Given the description of an element on the screen output the (x, y) to click on. 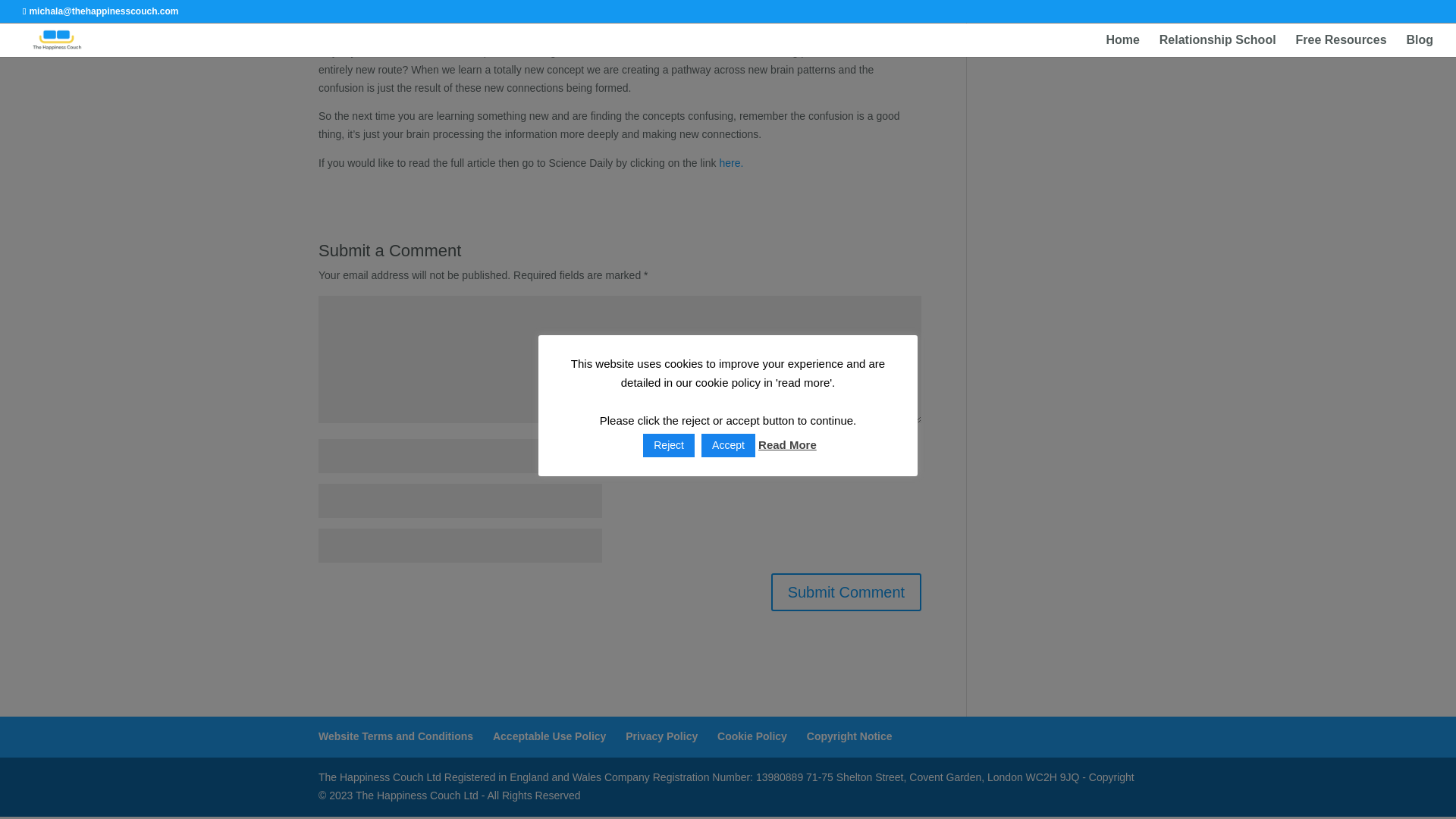
Submit Comment (846, 591)
